Given the description of an element on the screen output the (x, y) to click on. 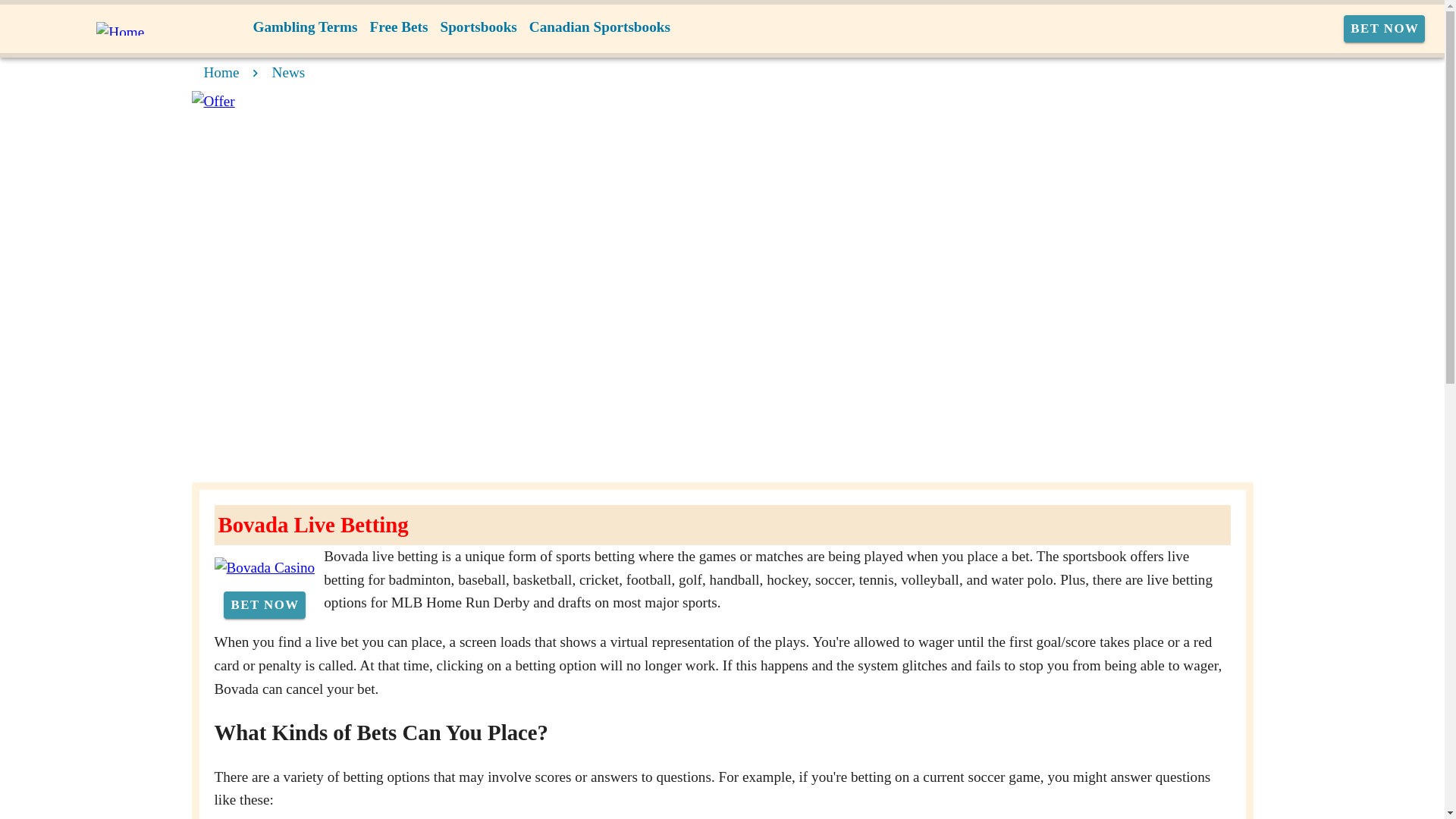
Gambling Terms (305, 27)
BET NOW (264, 605)
Home (220, 72)
Free Bets (398, 27)
News (288, 72)
Sportsbooks (477, 27)
BET NOW (1384, 28)
Canadian Sportsbooks (599, 27)
